Given the description of an element on the screen output the (x, y) to click on. 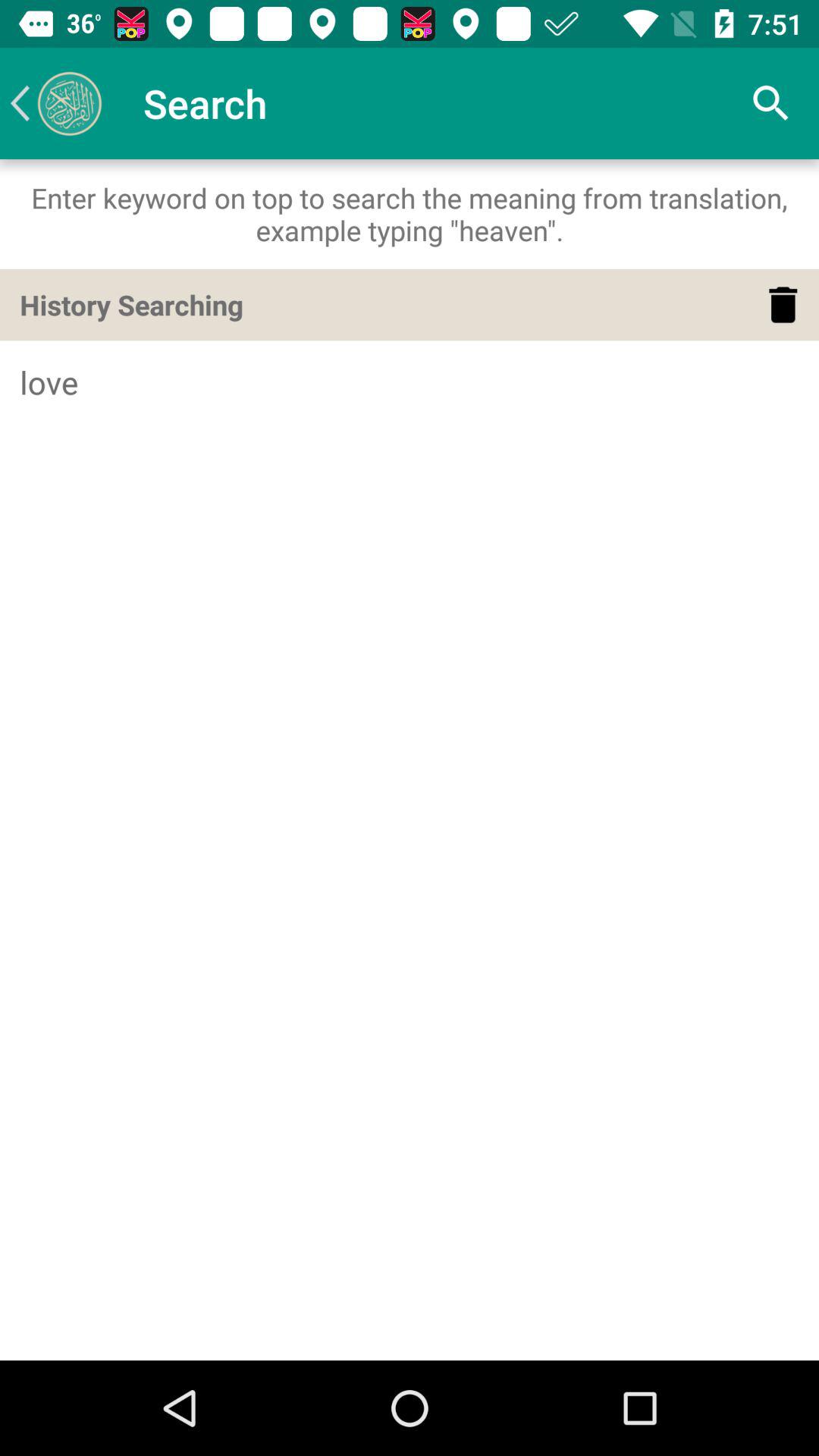
turn off item to the left of search item (55, 103)
